Given the description of an element on the screen output the (x, y) to click on. 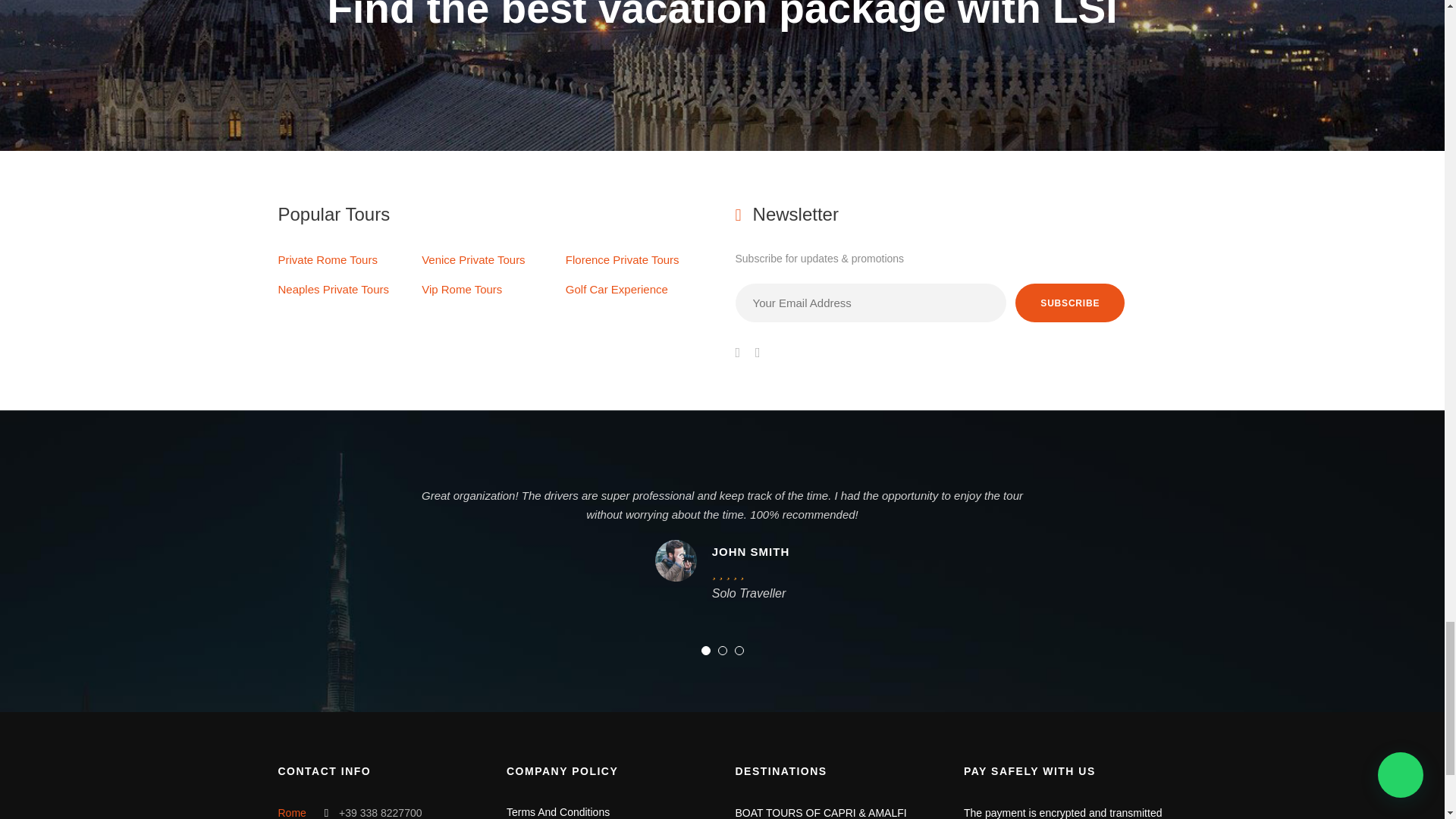
personnel-2 (676, 560)
Subscribe (1069, 302)
